Given the description of an element on the screen output the (x, y) to click on. 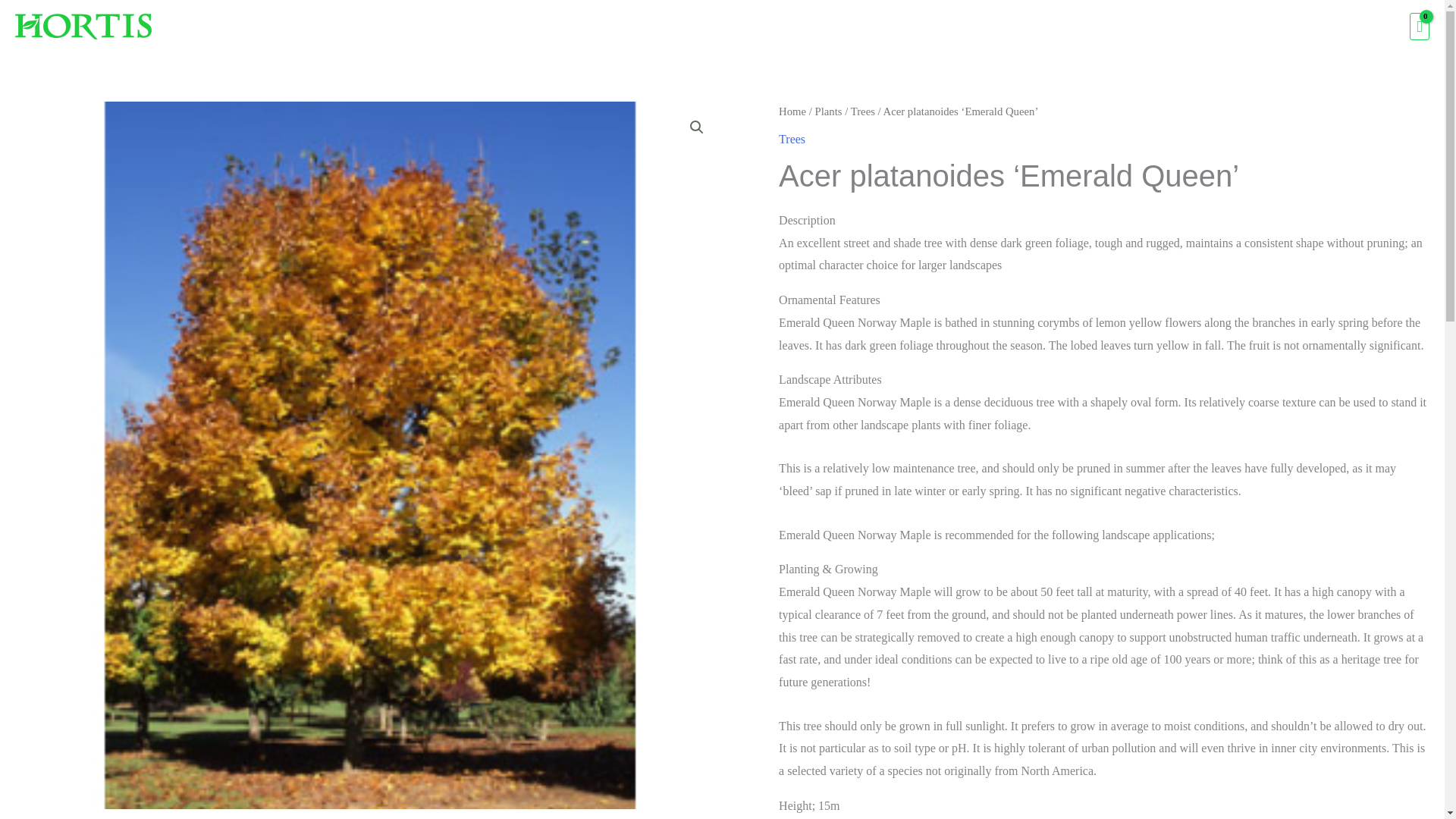
Plants (1061, 26)
Hardgoods (1136, 26)
Clothes (1216, 26)
Info (1327, 26)
Bulk (1276, 26)
